Given the description of an element on the screen output the (x, y) to click on. 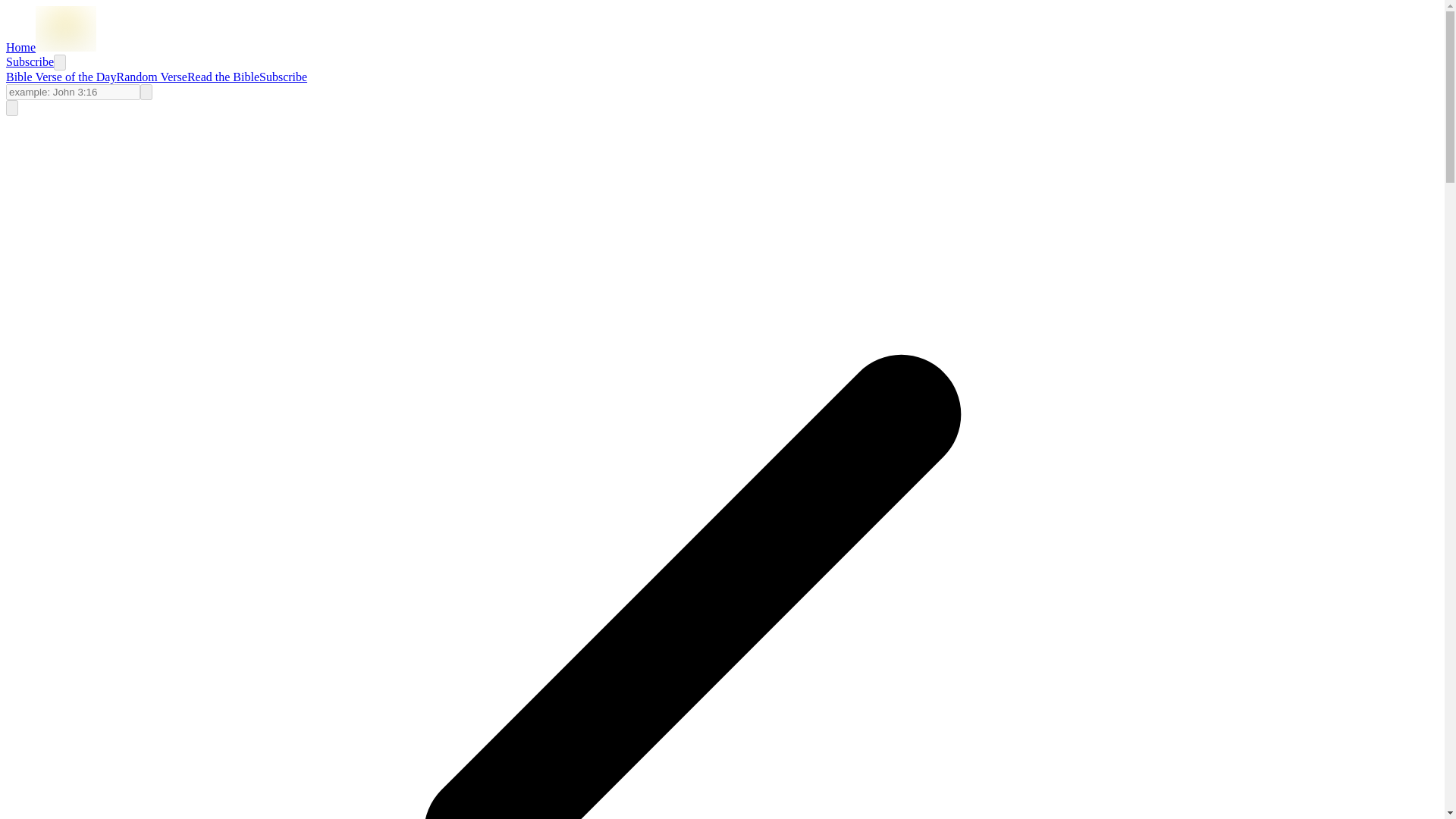
Bible Verse of the Day (60, 76)
Home (50, 47)
Subscribe (283, 76)
Random Verse (151, 76)
Topics (11, 107)
Read the Bible (223, 76)
Subscribe (29, 61)
